Given the description of an element on the screen output the (x, y) to click on. 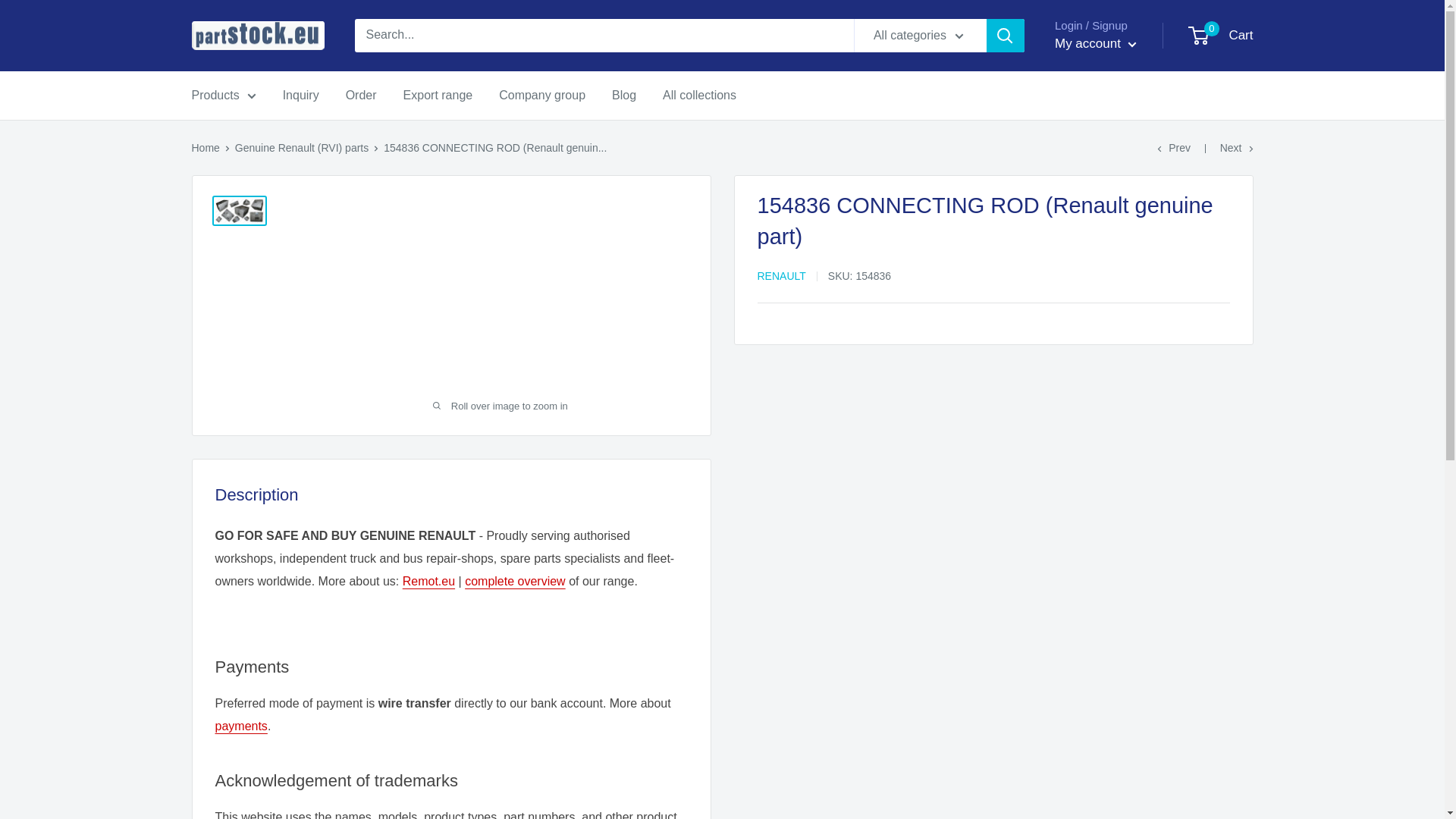
PartStock.eu (256, 35)
How to pay? (241, 725)
My account (1095, 43)
Our full reman range (428, 581)
Partstock group complete overview (515, 581)
